Given the description of an element on the screen output the (x, y) to click on. 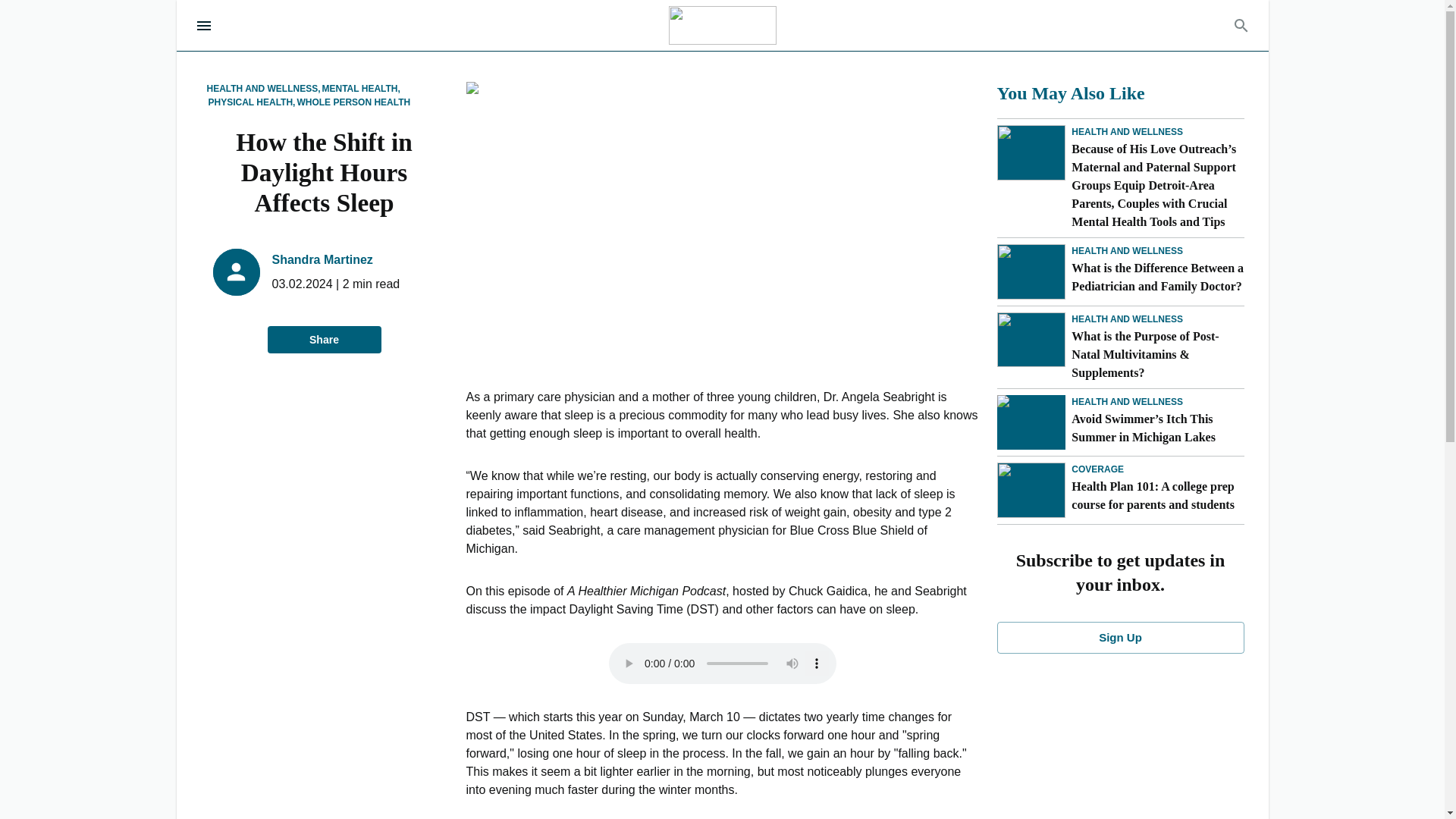
Share (323, 339)
Shandra Martinez (321, 259)
MENTAL HEALTH, (360, 88)
COVERAGE (1097, 468)
HEALTH AND WELLNESS (1126, 318)
WHOLE PERSON HEALTH (353, 101)
HEALTH AND WELLNESS, (263, 88)
PHYSICAL HEALTH, (251, 101)
HEALTH AND WELLNESS (1126, 401)
HEALTH AND WELLNESS (1126, 250)
Sign Up (1119, 637)
HEALTH AND WELLNESS (1126, 131)
